Given the description of an element on the screen output the (x, y) to click on. 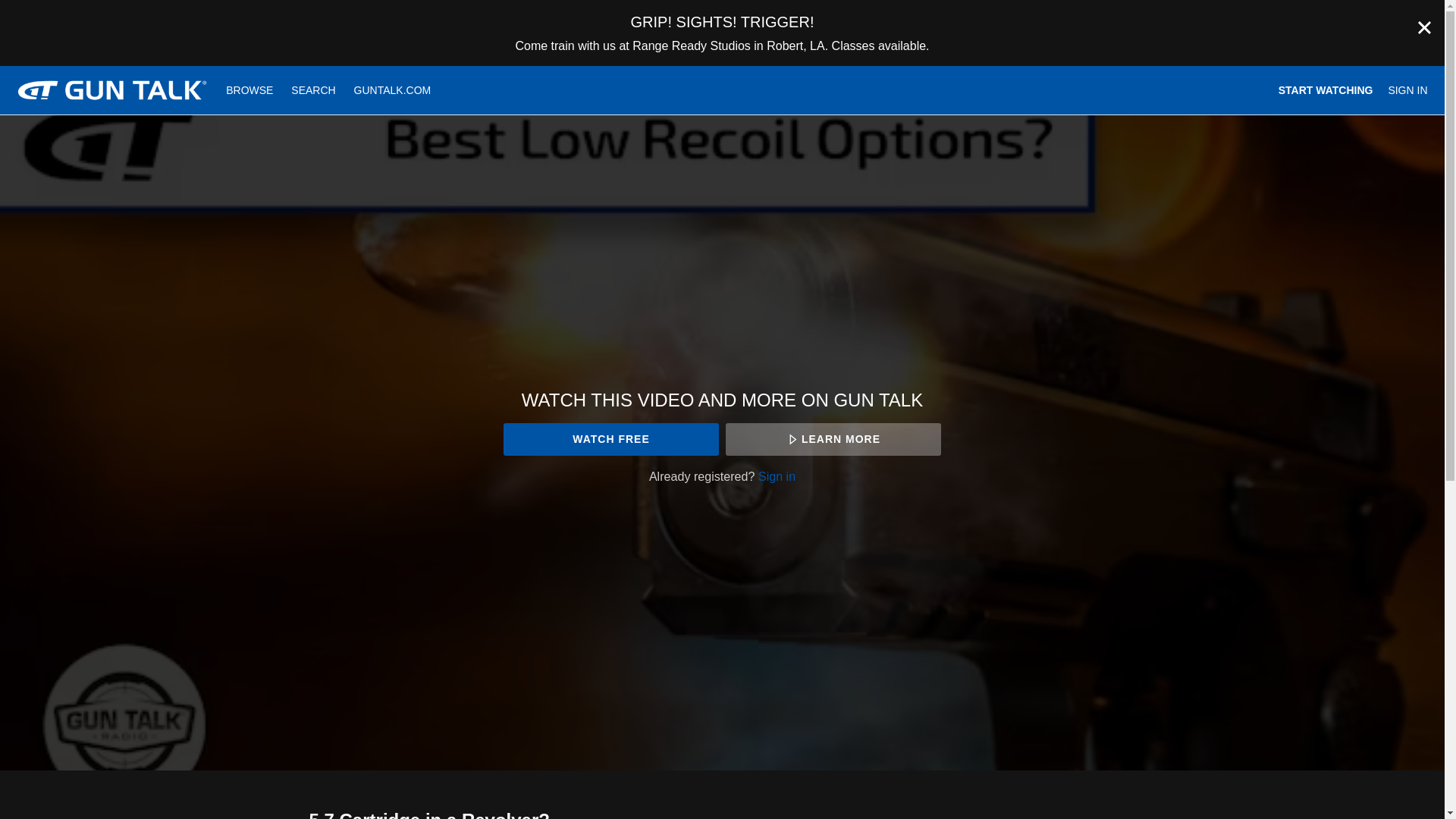
Skip to main content (48, 7)
BROWSE (250, 90)
WATCH FREE (610, 439)
GUNTALK.COM (392, 90)
LEARN MORE (832, 439)
START WATCHING (1325, 90)
SEARCH (314, 90)
SIGN IN (1406, 90)
Sign in (776, 476)
